Given the description of an element on the screen output the (x, y) to click on. 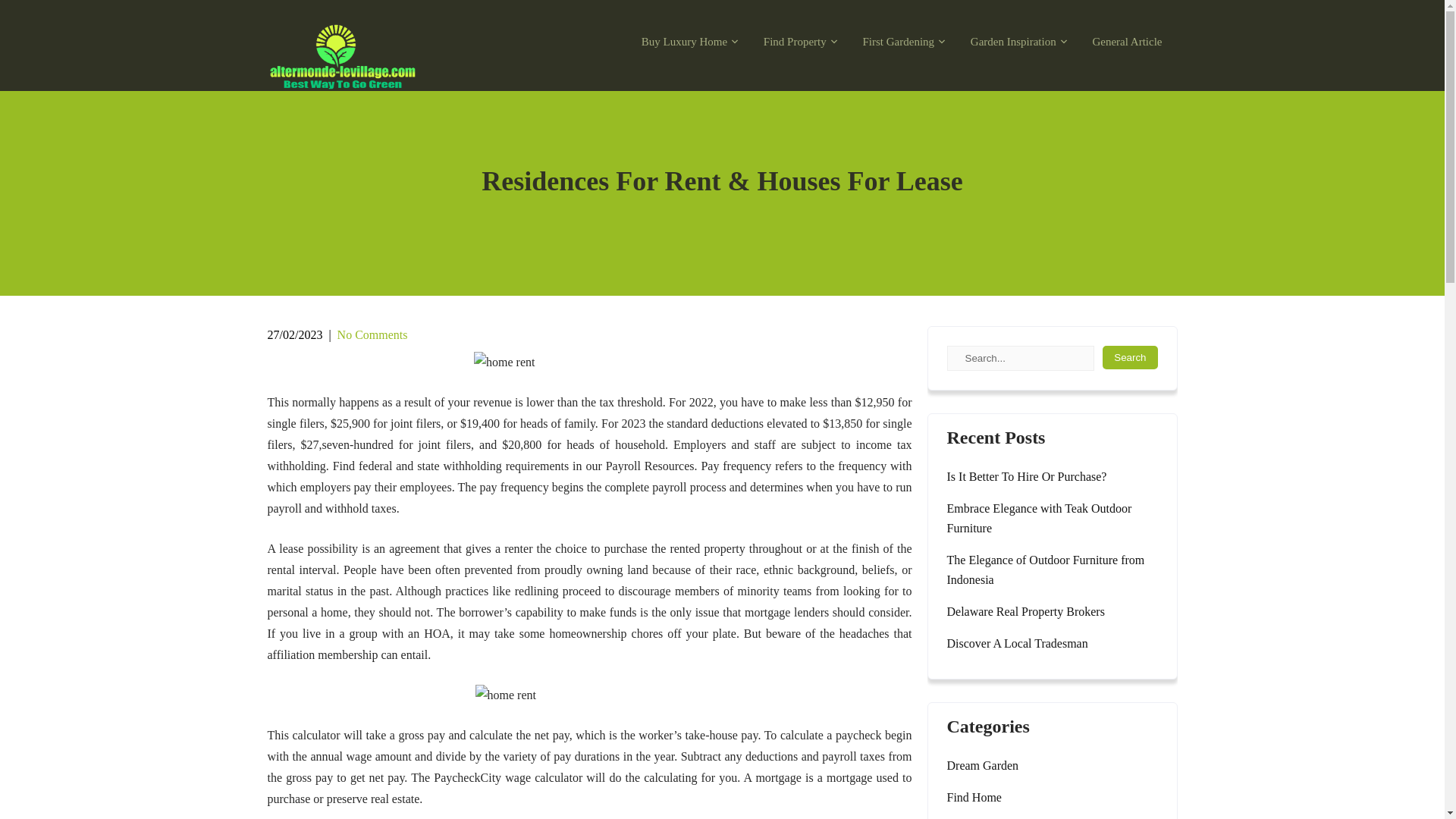
Garden Inspiration (1014, 41)
The Elegance of Outdoor Furniture from Indonesia (1051, 569)
First Gardening (899, 41)
Delaware Real Property Brokers (1024, 611)
Search (1129, 357)
Is It Better To Hire Or Purchase? (1026, 476)
General Article (1126, 41)
Embrace Elegance with Teak Outdoor Furniture (1051, 518)
Buy Luxury Home (685, 41)
Find Property (796, 41)
No Comments (372, 334)
Search (1129, 357)
Search (1129, 357)
